Given the description of an element on the screen output the (x, y) to click on. 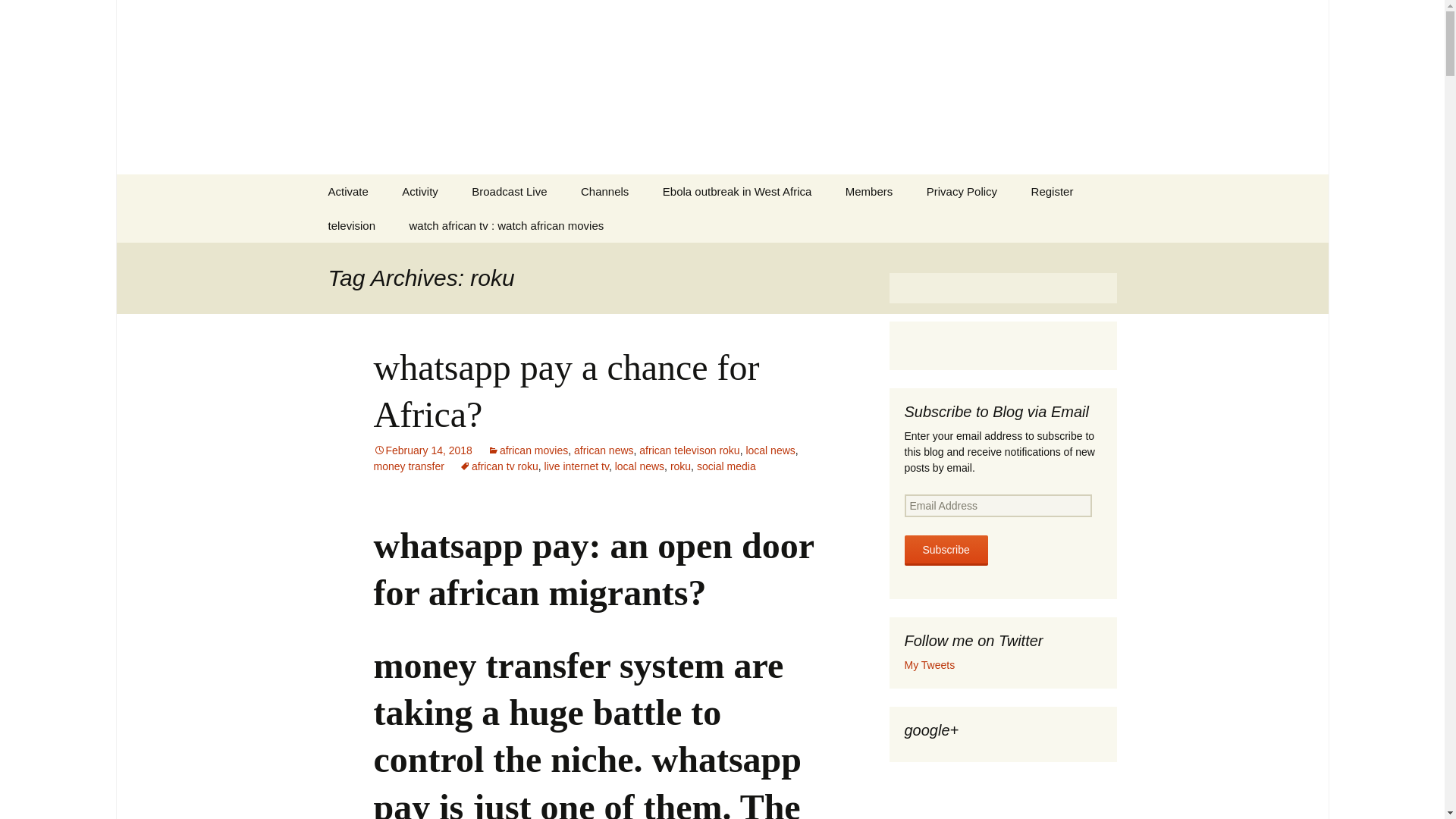
money transfer (408, 466)
Channels (604, 191)
african tv roku (499, 466)
Permalink to whatsapp pay a chance for Africa? (421, 450)
african movies (527, 450)
watch african tv : watch african movies (507, 225)
whatsapp pay a chance for Africa? (565, 390)
Ebola outbreak in West Africa (737, 191)
african news (603, 450)
social media (726, 466)
Search (18, 15)
Register (1052, 191)
african televison roku (689, 450)
